Given the description of an element on the screen output the (x, y) to click on. 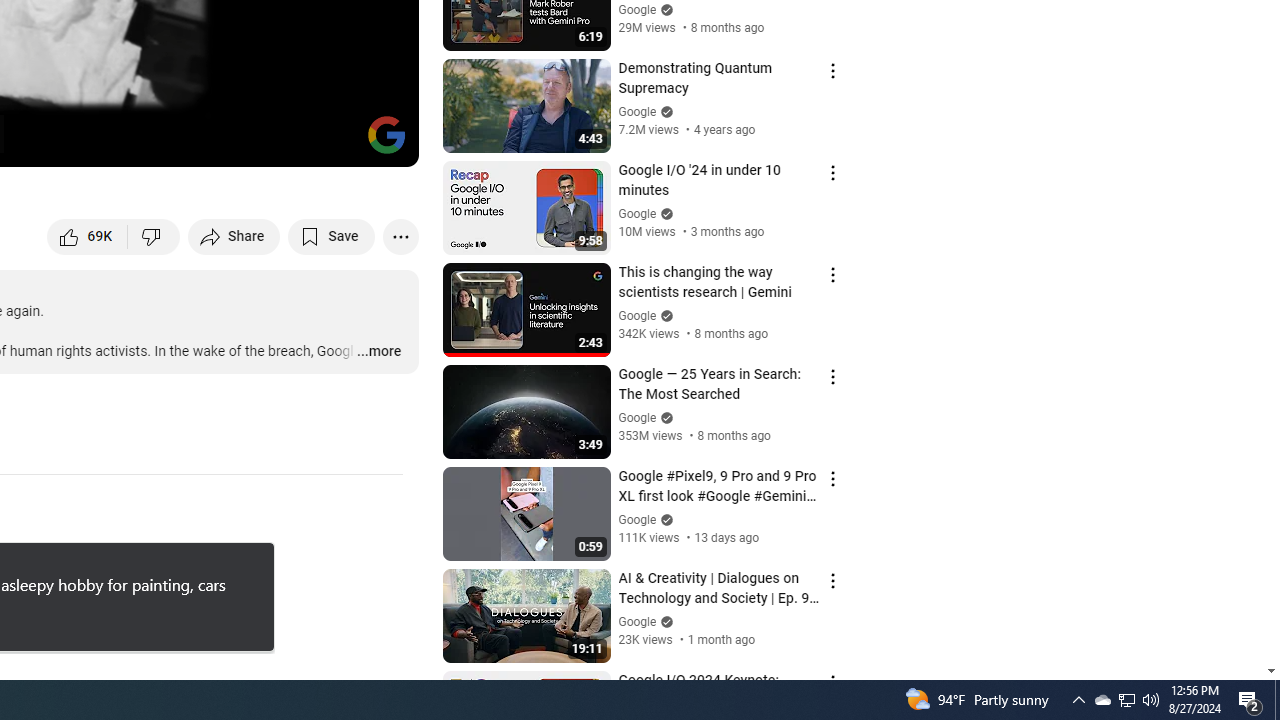
Subtitles/closed captions unavailable (190, 142)
Save to playlist (331, 236)
Theater mode (t) (333, 142)
Dislike this video (154, 236)
like this video along with 69,581 other people (88, 236)
Full screen keyboard shortcut f (382, 142)
